Given the description of an element on the screen output the (x, y) to click on. 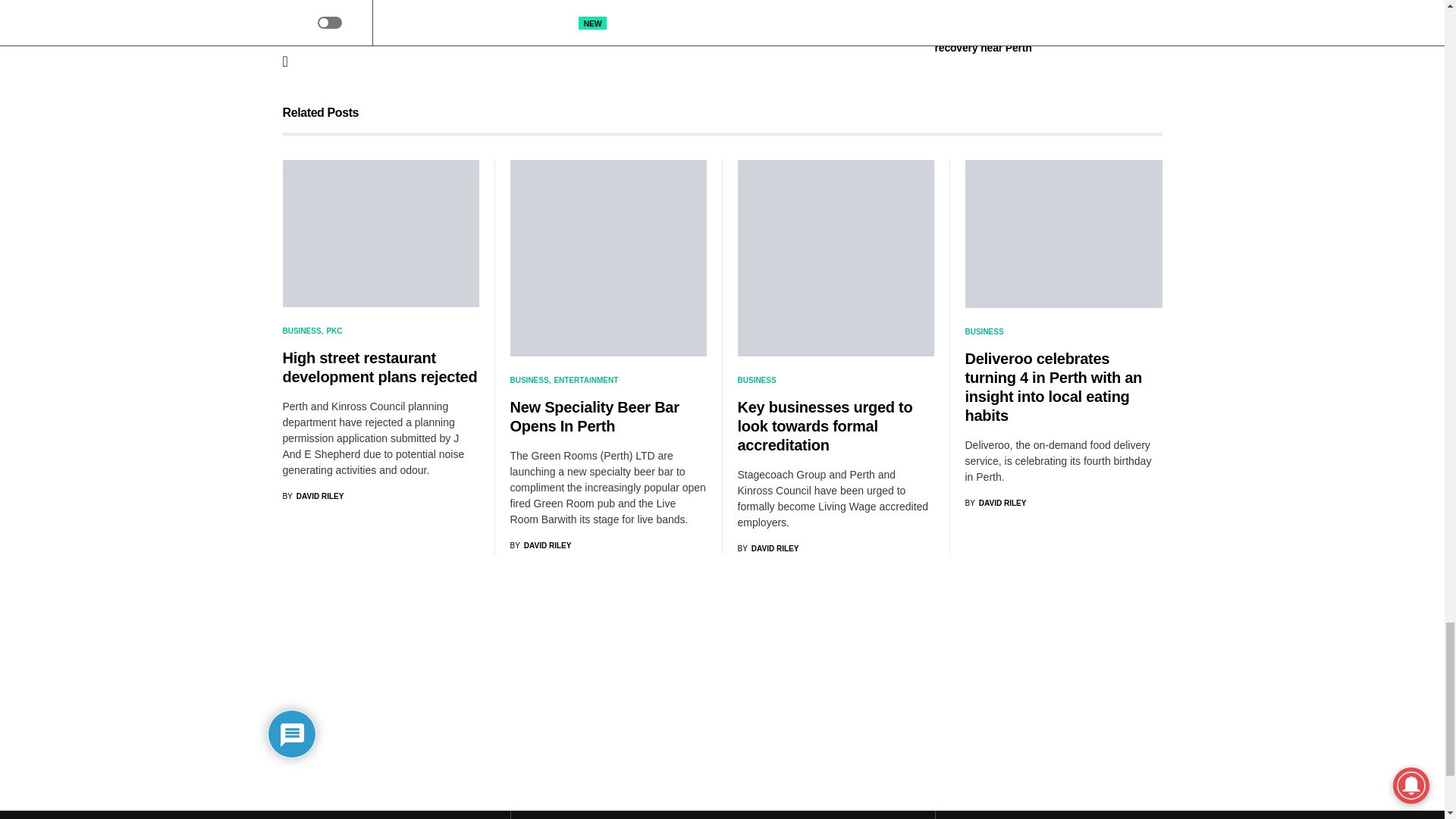
View all posts by David Riley (539, 545)
View all posts by David Riley (312, 496)
View all posts by David Riley (994, 502)
View all posts by David Riley (766, 548)
